Given the description of an element on the screen output the (x, y) to click on. 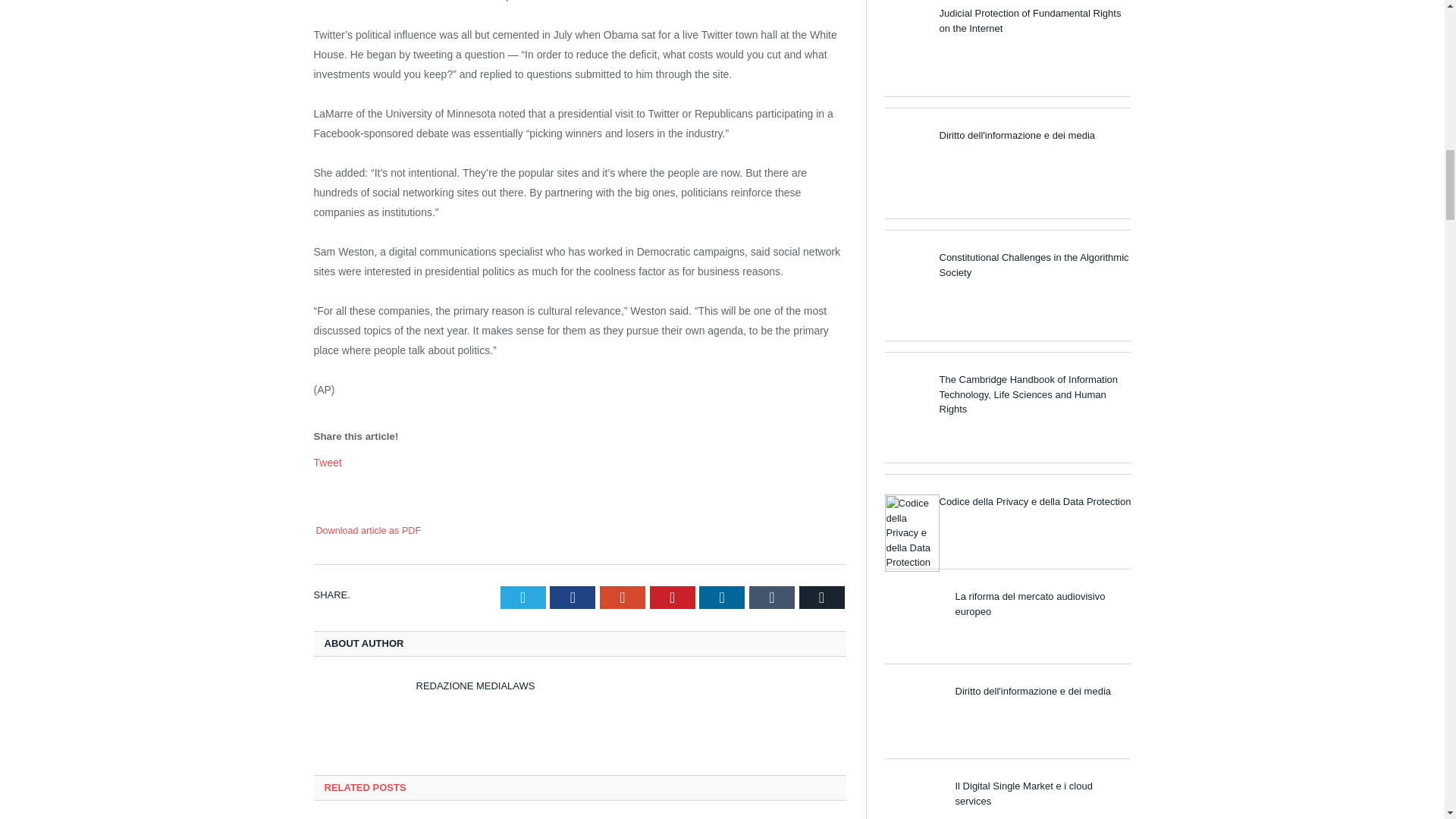
Twitter (523, 597)
Share on Tumblr (771, 597)
Tumblr (771, 597)
Pinterest (672, 597)
Email a Friend (352, 491)
Share on LinkedIn (721, 597)
Share on Pinterest (672, 597)
Tweet (328, 462)
Download article as PDF (367, 530)
LinkedIn (721, 597)
Email (821, 597)
Share on Facebook (572, 597)
Tweet It (523, 597)
Facebook (572, 597)
Share on Facebook (325, 491)
